Given the description of an element on the screen output the (x, y) to click on. 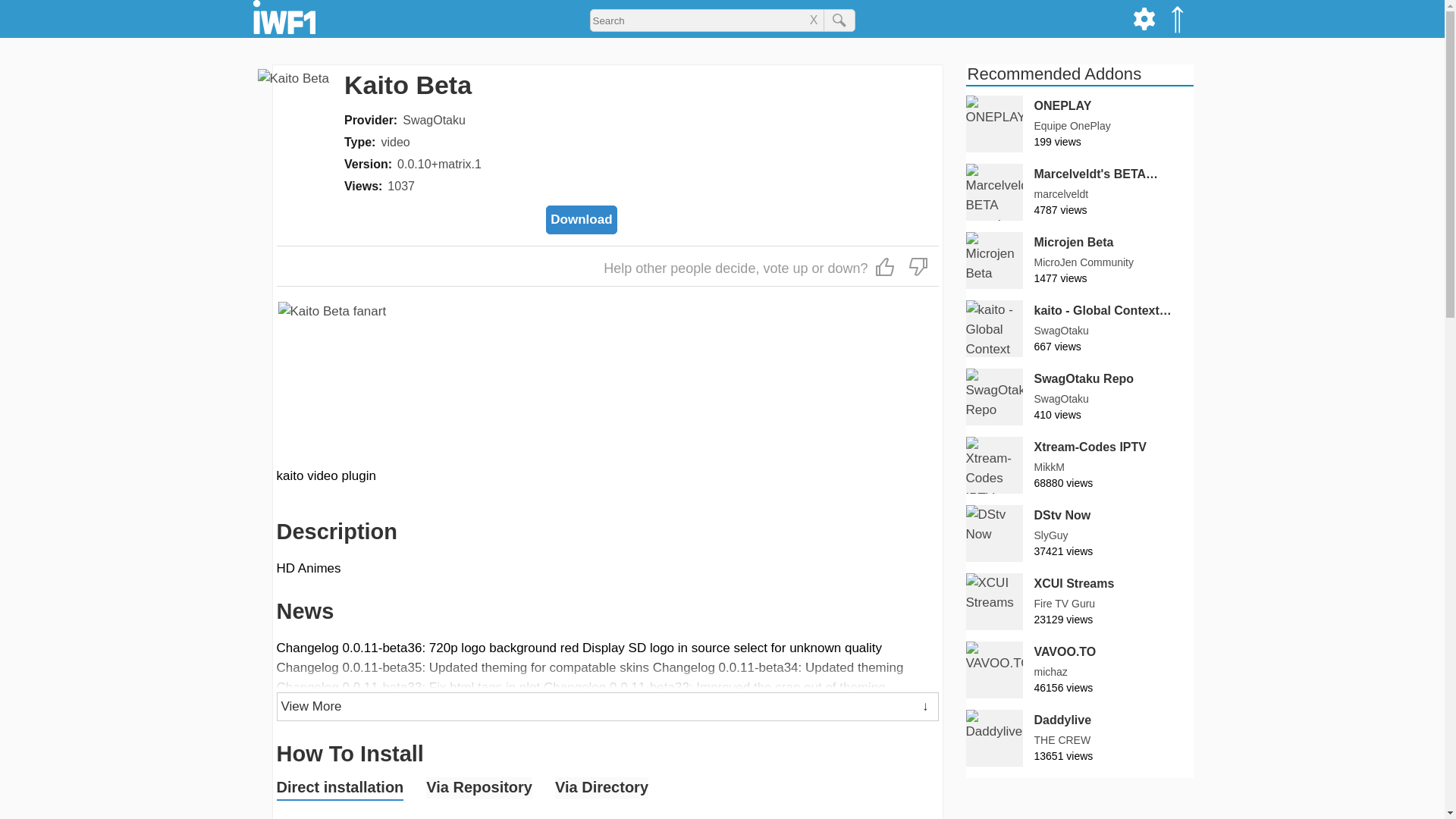
SwagOtaku (434, 119)
ONEPLAY (1062, 105)
Download (580, 219)
Dislike this addon? (918, 266)
marcelveldt (1061, 194)
XCUI Streams (1079, 601)
Microjen Beta (1073, 241)
DStv Now (1079, 533)
MicroJen Community (1083, 262)
SwagOtaku (1061, 399)
Marcelveldt's BETA repository (1095, 173)
Like this addon? (885, 266)
DStv Now (1061, 515)
kaito - Global Context Menu Items (1102, 310)
VAVOO.TO (1064, 651)
